Given the description of an element on the screen output the (x, y) to click on. 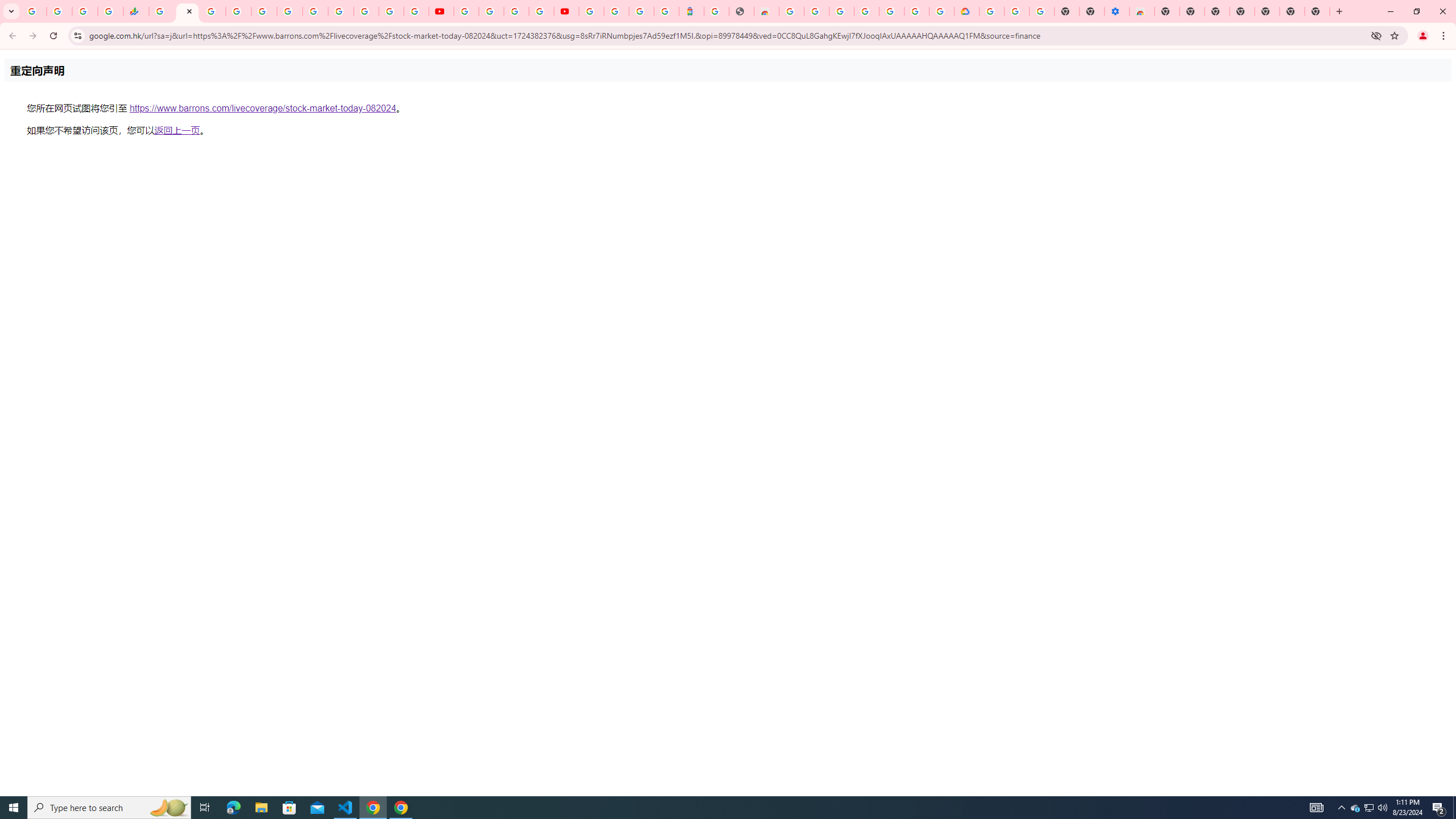
Sign in - Google Accounts (841, 11)
YouTube (440, 11)
Turn cookies on or off - Computer - Google Account Help (1042, 11)
Sign in - Google Accounts (238, 11)
YouTube (465, 11)
Sign in - Google Accounts (616, 11)
Ad Settings (816, 11)
Sign in - Google Accounts (991, 11)
